Given the description of an element on the screen output the (x, y) to click on. 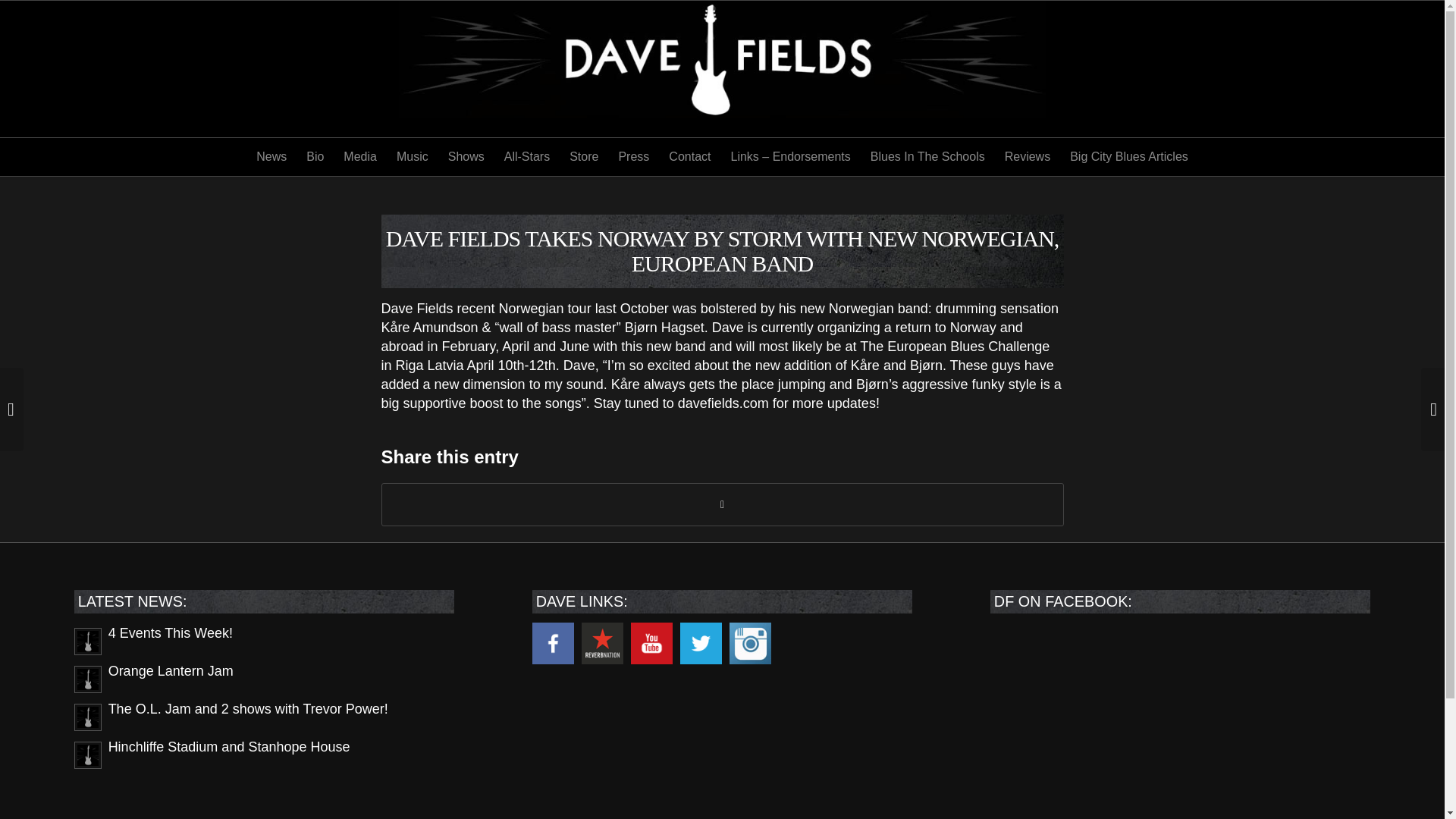
The O.L. Jam and 2 shows with Trevor Power! (264, 716)
Bio (315, 157)
Shows (466, 157)
Press (633, 157)
Media (360, 157)
Contact (689, 157)
4 Events This Week! (264, 639)
Orange Lantern Jam (264, 677)
News (271, 157)
Hinchliffe Stadium and Stanhope House (264, 753)
Blues In The Schools (927, 157)
All-Stars (527, 157)
Reviews (1026, 157)
